Given the description of an element on the screen output the (x, y) to click on. 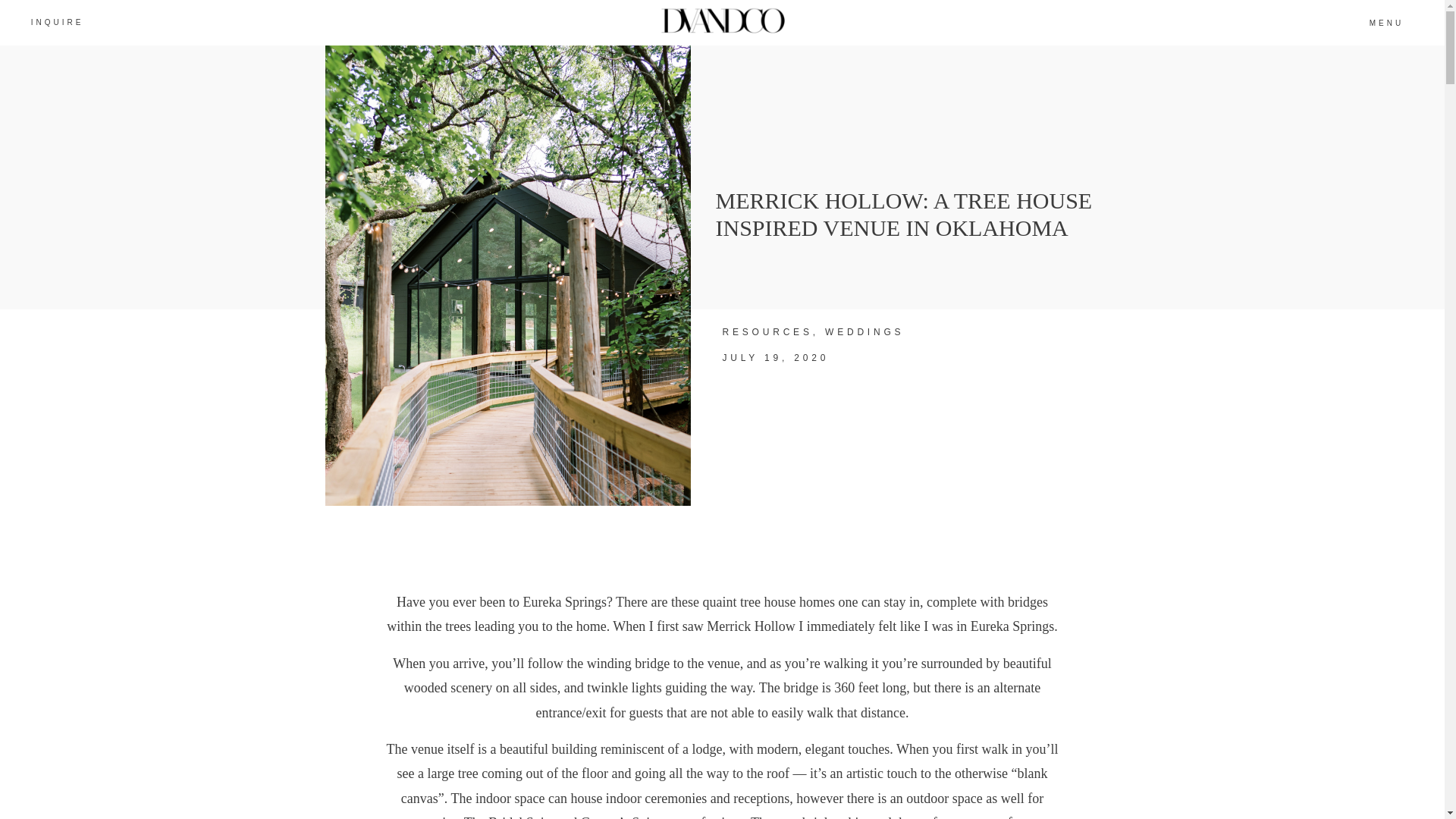
INQUIRE (57, 21)
WEDDINGS (864, 331)
RESOURCES (767, 331)
